Given the description of an element on the screen output the (x, y) to click on. 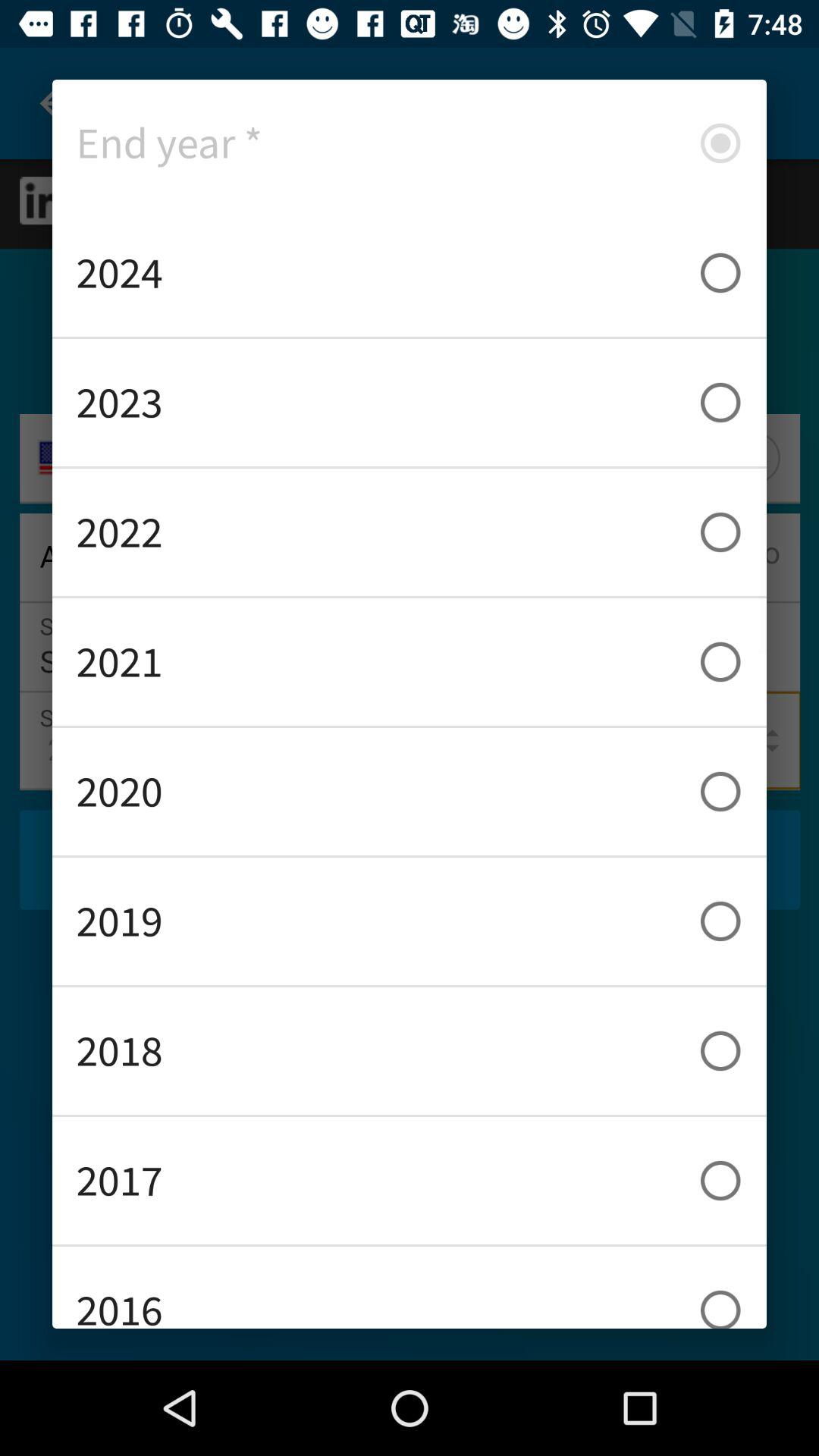
tap the 2019 item (409, 921)
